Given the description of an element on the screen output the (x, y) to click on. 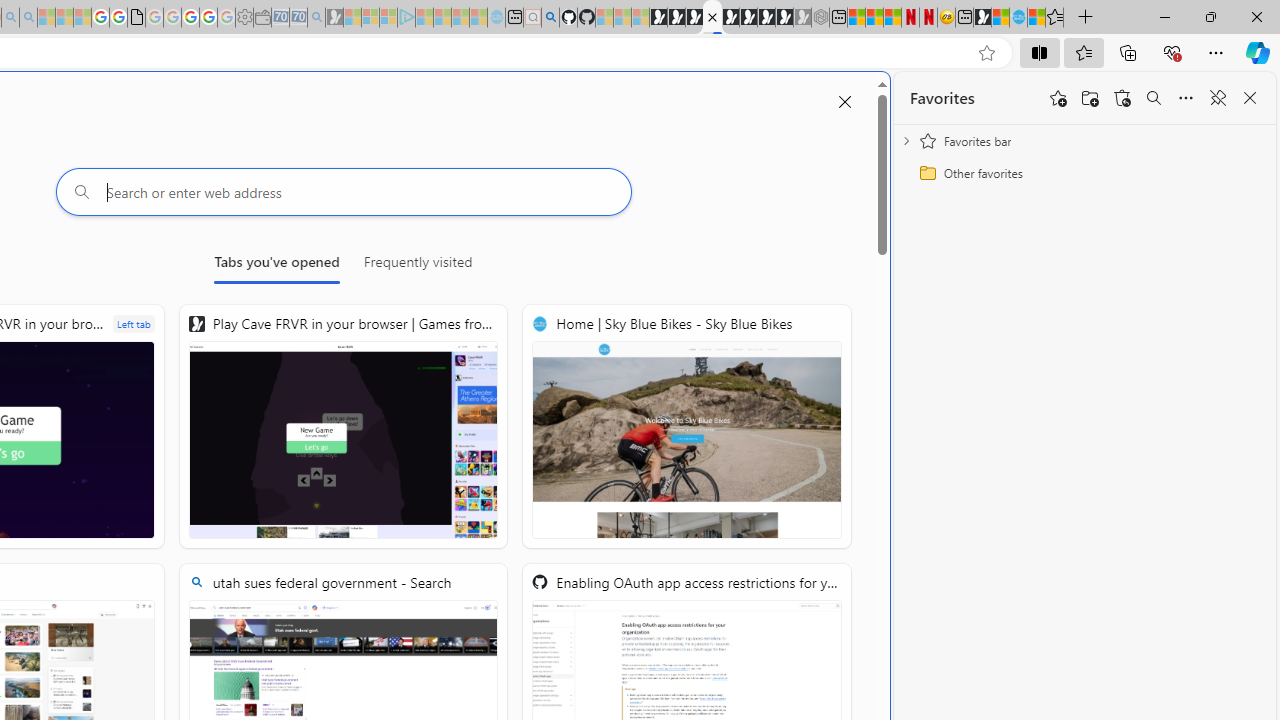
Unpin favorites (1217, 98)
Search favorites (1153, 98)
Close split screen (844, 102)
Home | Sky Blue Bikes - Sky Blue Bikes (687, 426)
World - MSN (1000, 17)
Utah sues federal government - Search - Sleeping (28, 17)
